Given the description of an element on the screen output the (x, y) to click on. 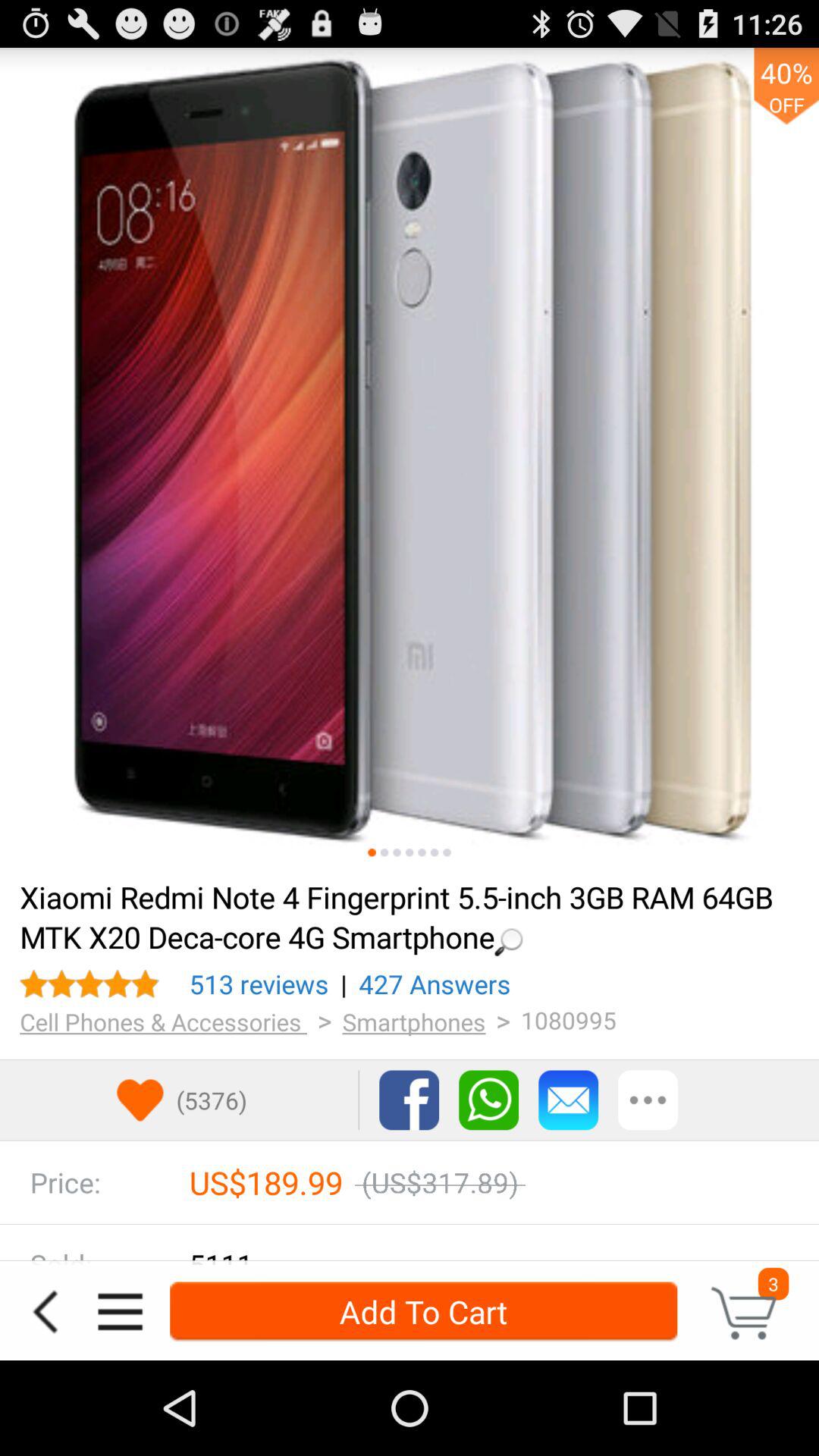
move to an alternate image (447, 852)
